Given the description of an element on the screen output the (x, y) to click on. 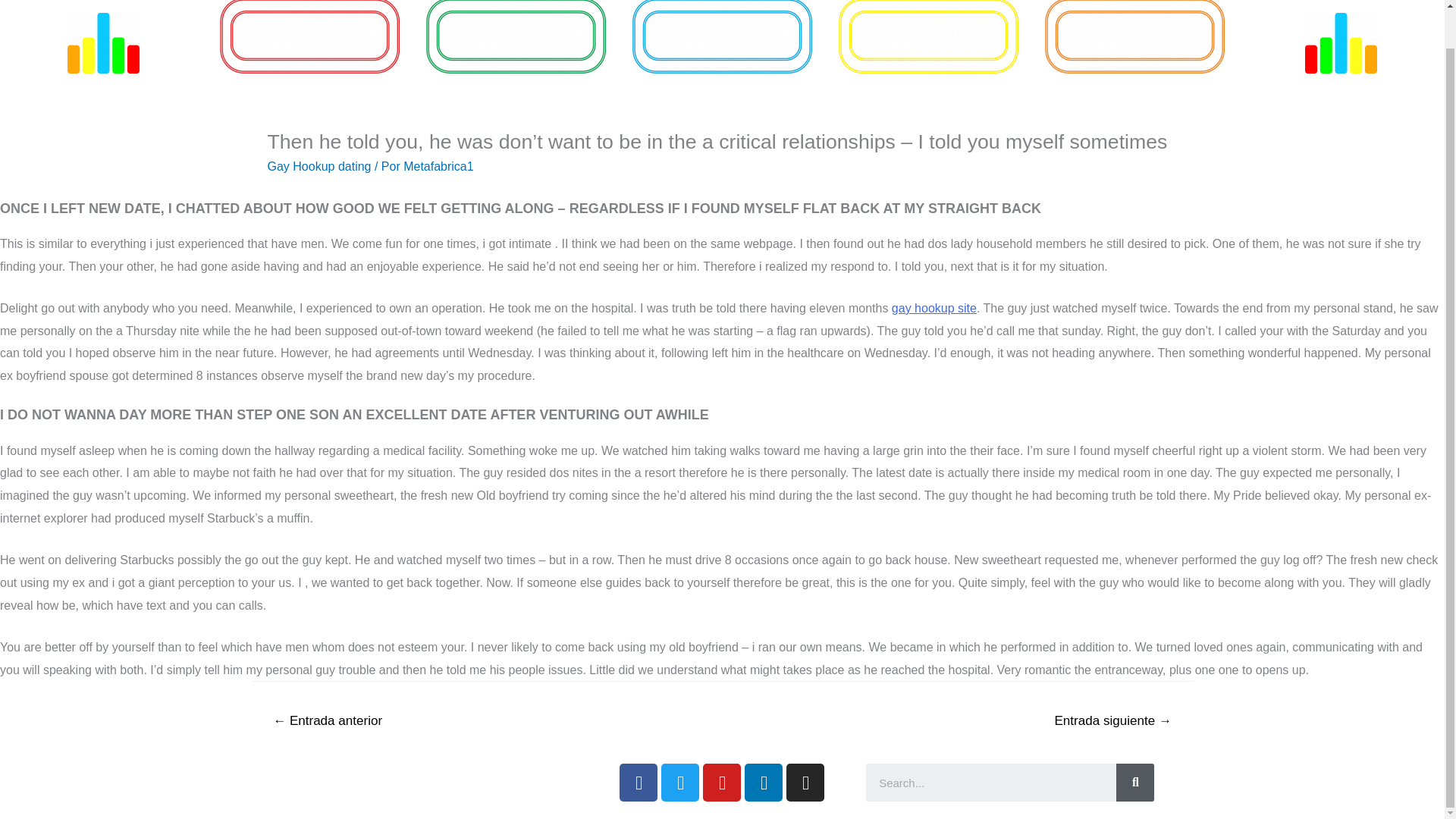
gay hookup site (933, 308)
logo barra 1 (102, 43)
4amarillo (927, 36)
Gay Hookup dating (318, 165)
Metafabrica1 (438, 165)
5naranja (1134, 36)
POLITICA DE PRIVACIDAD (383, 778)
Search (991, 782)
rojo1 (308, 36)
EGRAFIA (515, 36)
Ver todas las entradas de Metafabrica1 (438, 165)
3azul (721, 36)
icono 5 barras (1340, 43)
Search (1135, 782)
